Given the description of an element on the screen output the (x, y) to click on. 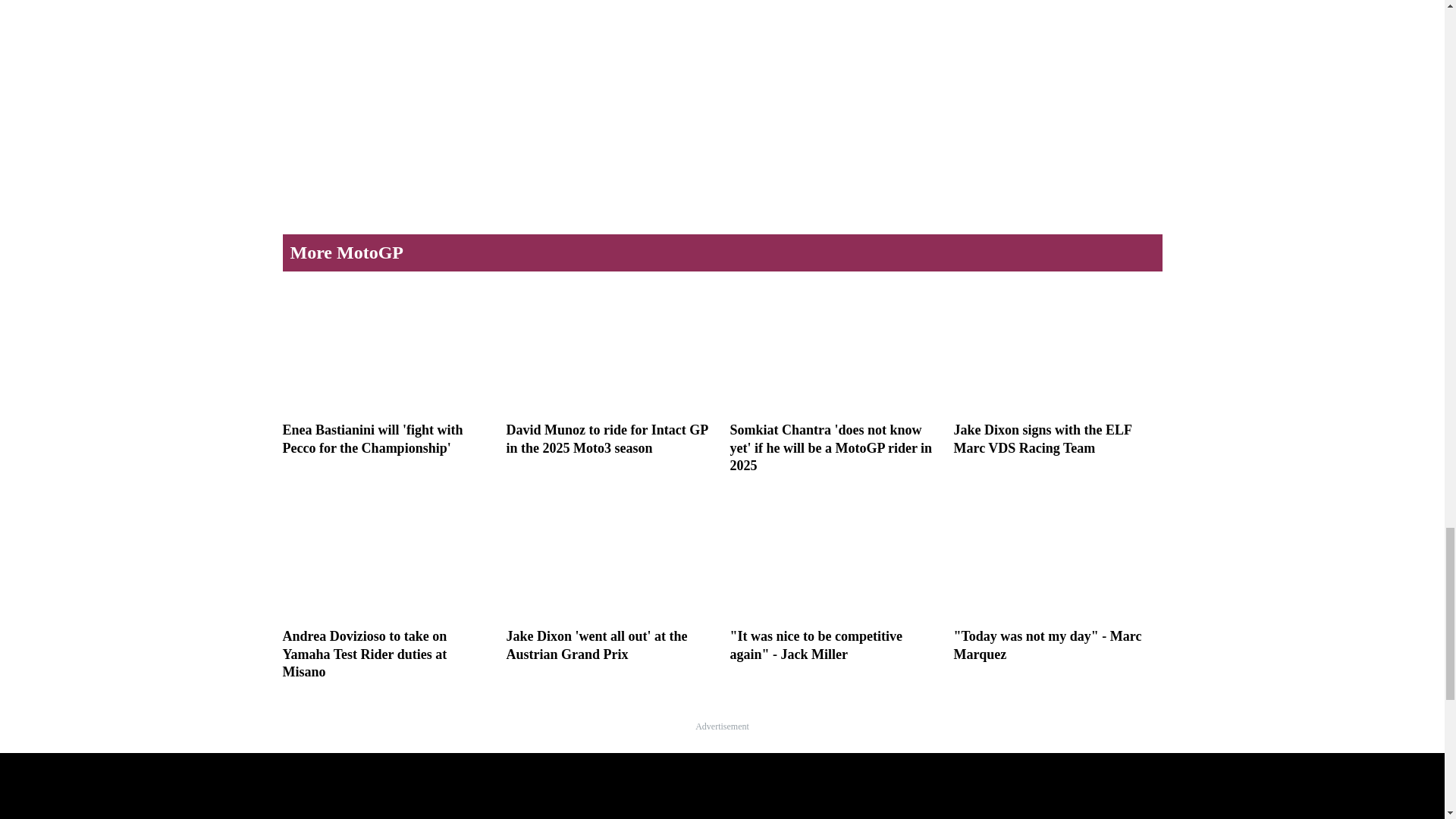
"It was nice to be competitive again" - Jack Miller (833, 576)
Jake Dixon signs with the ELF Marc VDS Racing Team (1057, 370)
"Today was not my day" - Marc Marquez (1057, 576)
Enea Bastianini will 'fight with Pecco for the Championship' (386, 370)
Jake Dixon 'went all out' at the Austrian Grand Prix (610, 576)
David Munoz to ride for Intact GP in the 2025 Moto3 season (610, 370)
